Given the description of an element on the screen output the (x, y) to click on. 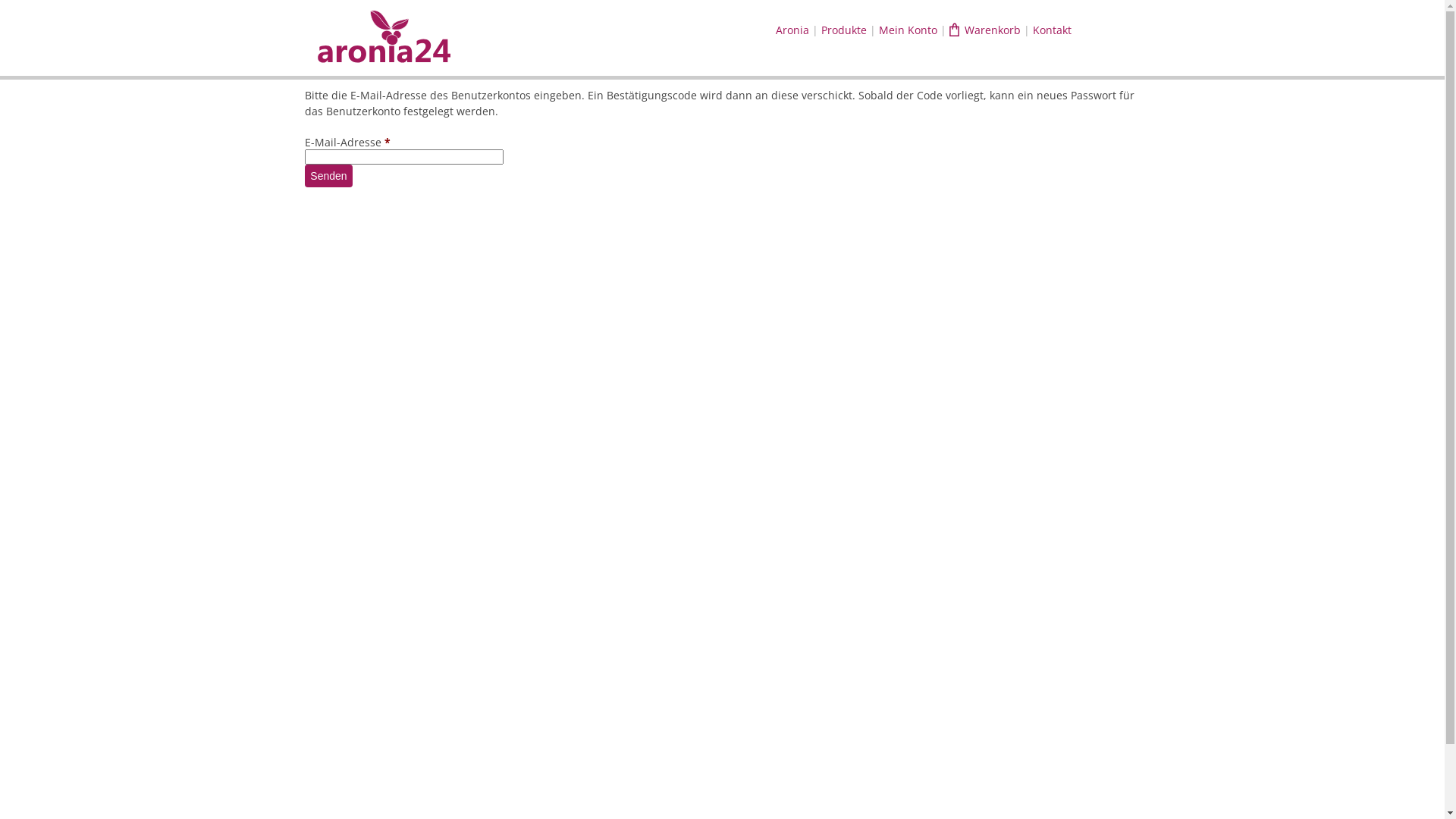
Aronia Element type: text (792, 29)
Warenkorb Element type: text (984, 29)
Mein Konto Element type: text (907, 29)
Kontakt Element type: text (1051, 29)
Senden Element type: text (327, 175)
Produkte Element type: text (843, 29)
